Given the description of an element on the screen output the (x, y) to click on. 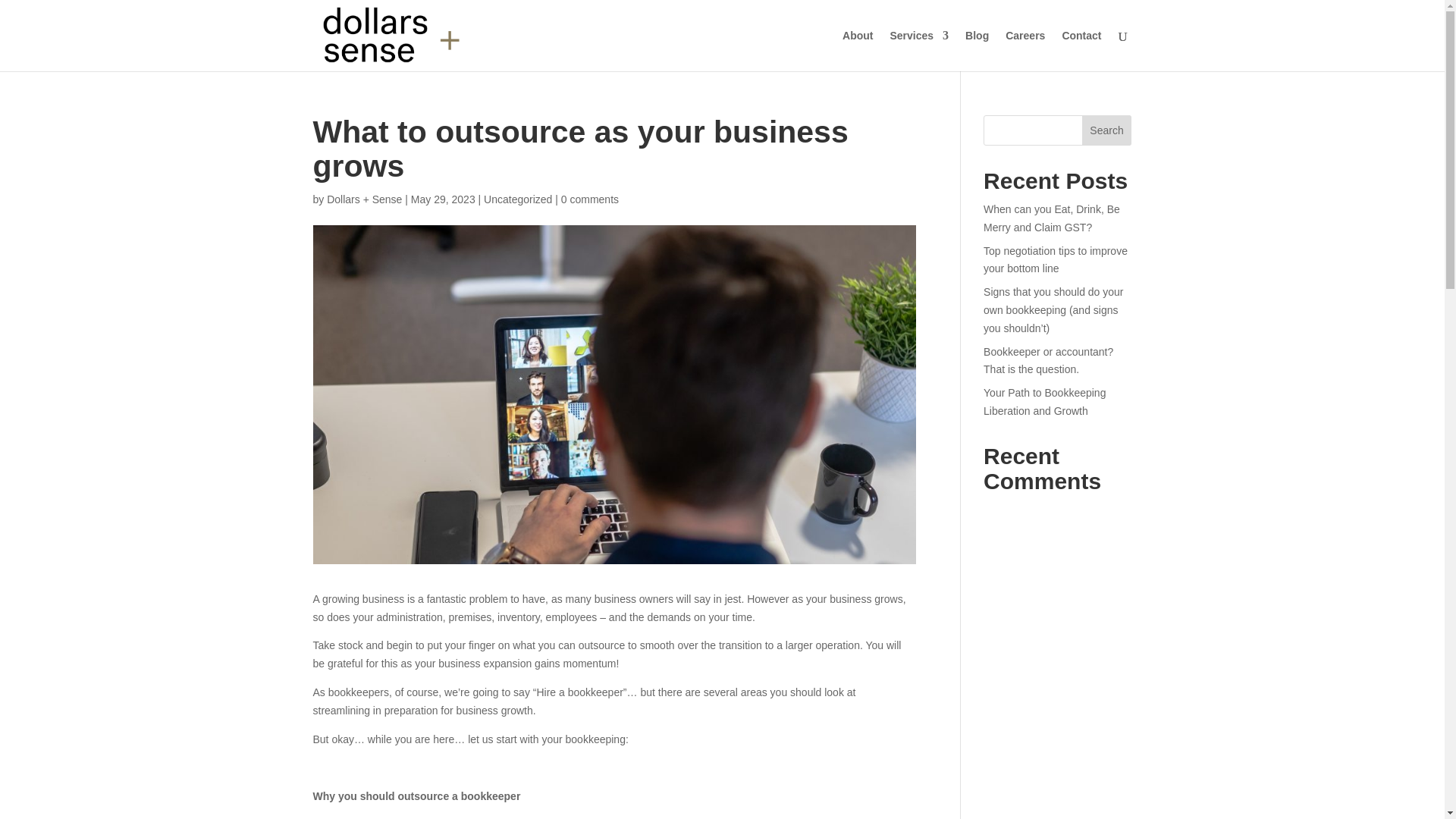
Services (919, 50)
Search (1106, 130)
Careers (1025, 50)
Uncategorized (517, 199)
Your Path to Bookkeeping Liberation and Growth (1044, 401)
Contact (1080, 50)
Bookkeeper or accountant? That is the question. (1048, 360)
0 comments (589, 199)
Search (1106, 130)
Top negotiation tips to improve your bottom line (1055, 259)
